Given the description of an element on the screen output the (x, y) to click on. 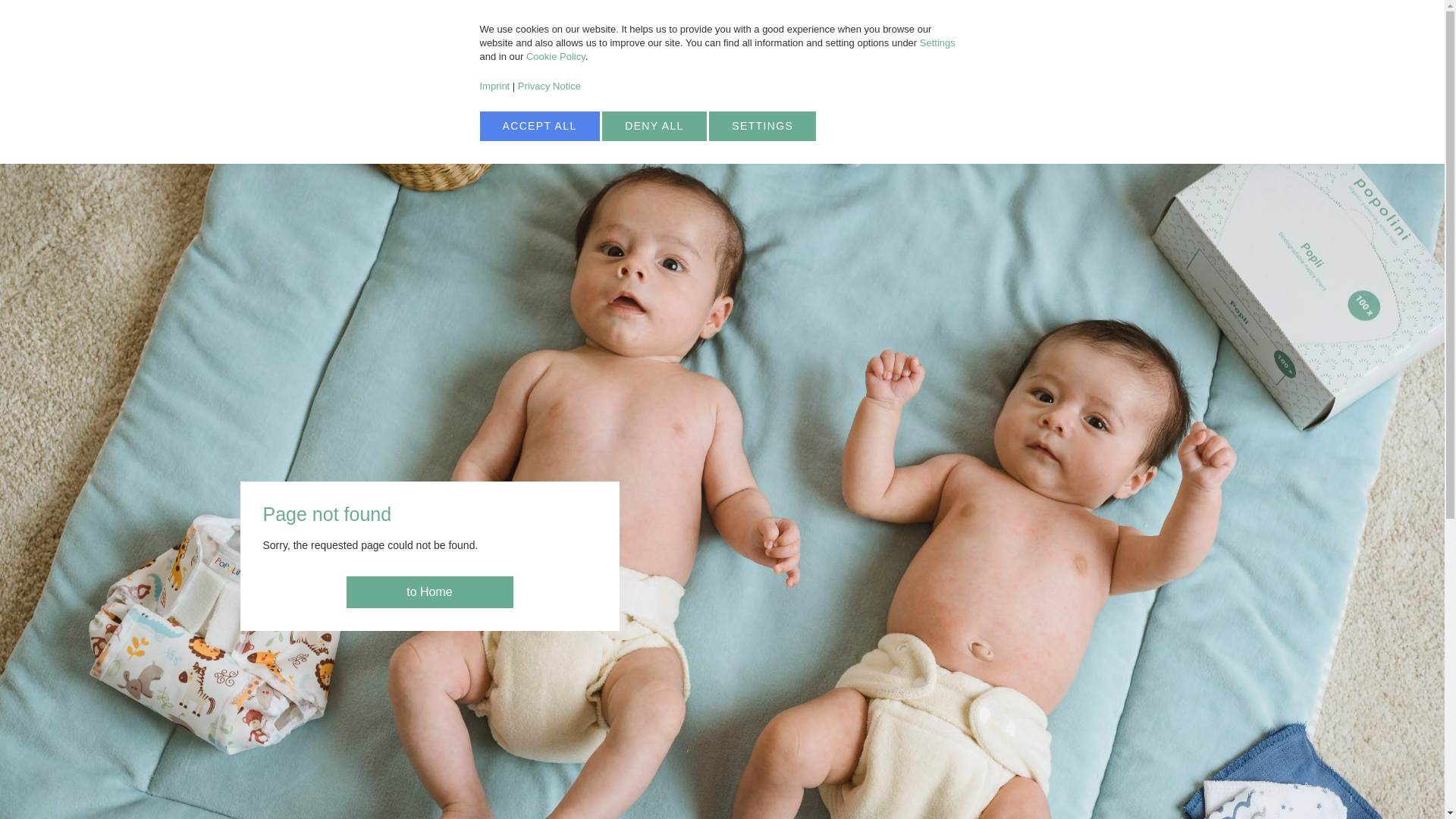
Settings (937, 42)
Accept all (538, 126)
EXTRASUMMERSALE24 (847, 19)
Privacy Notice (549, 85)
Imprint (494, 85)
DENY ALL (654, 126)
SETTINGS (1127, 82)
Deny all (762, 126)
Onlineshop (654, 126)
Cookie Policy (413, 134)
Settings (555, 56)
Imprint (762, 126)
ACCEPT ALL (494, 85)
Events (538, 126)
